Given the description of an element on the screen output the (x, y) to click on. 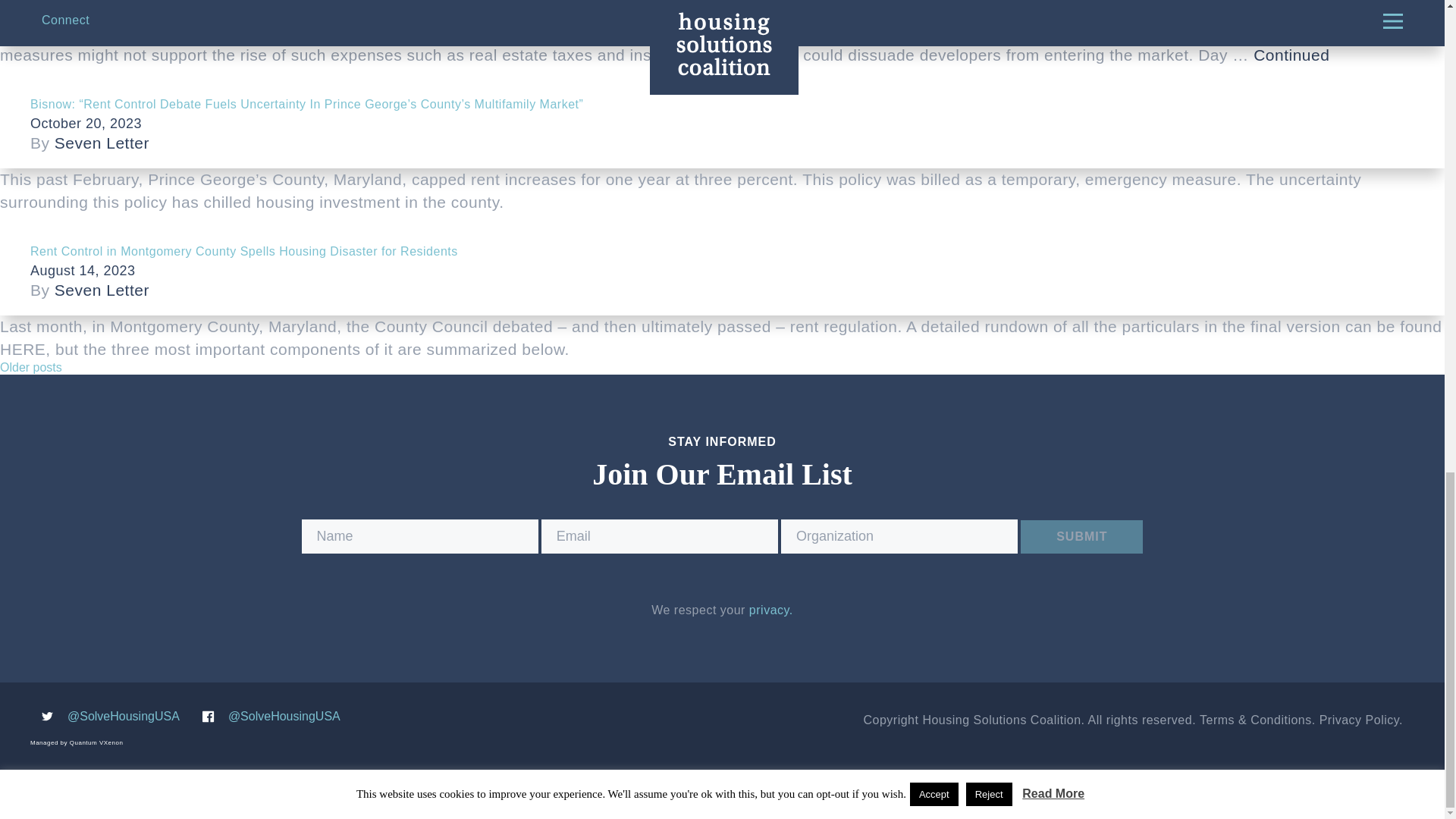
Older posts (31, 367)
privacy. (771, 609)
Seven Letter (102, 2)
SUBMIT (1081, 536)
Seven Letter (102, 289)
Continued (1291, 54)
Seven Letter (102, 142)
